Given the description of an element on the screen output the (x, y) to click on. 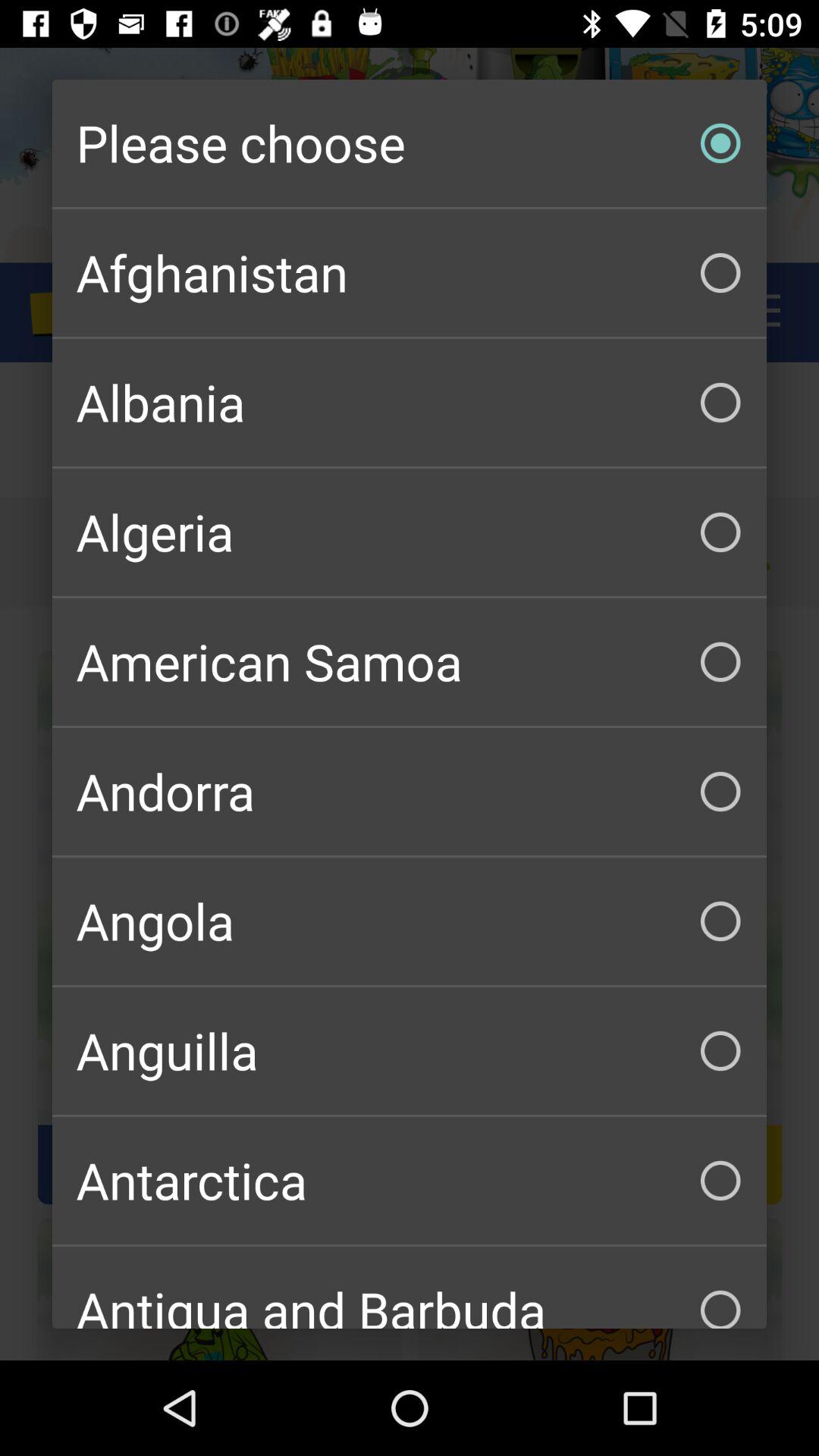
open item above the algeria (409, 402)
